Given the description of an element on the screen output the (x, y) to click on. 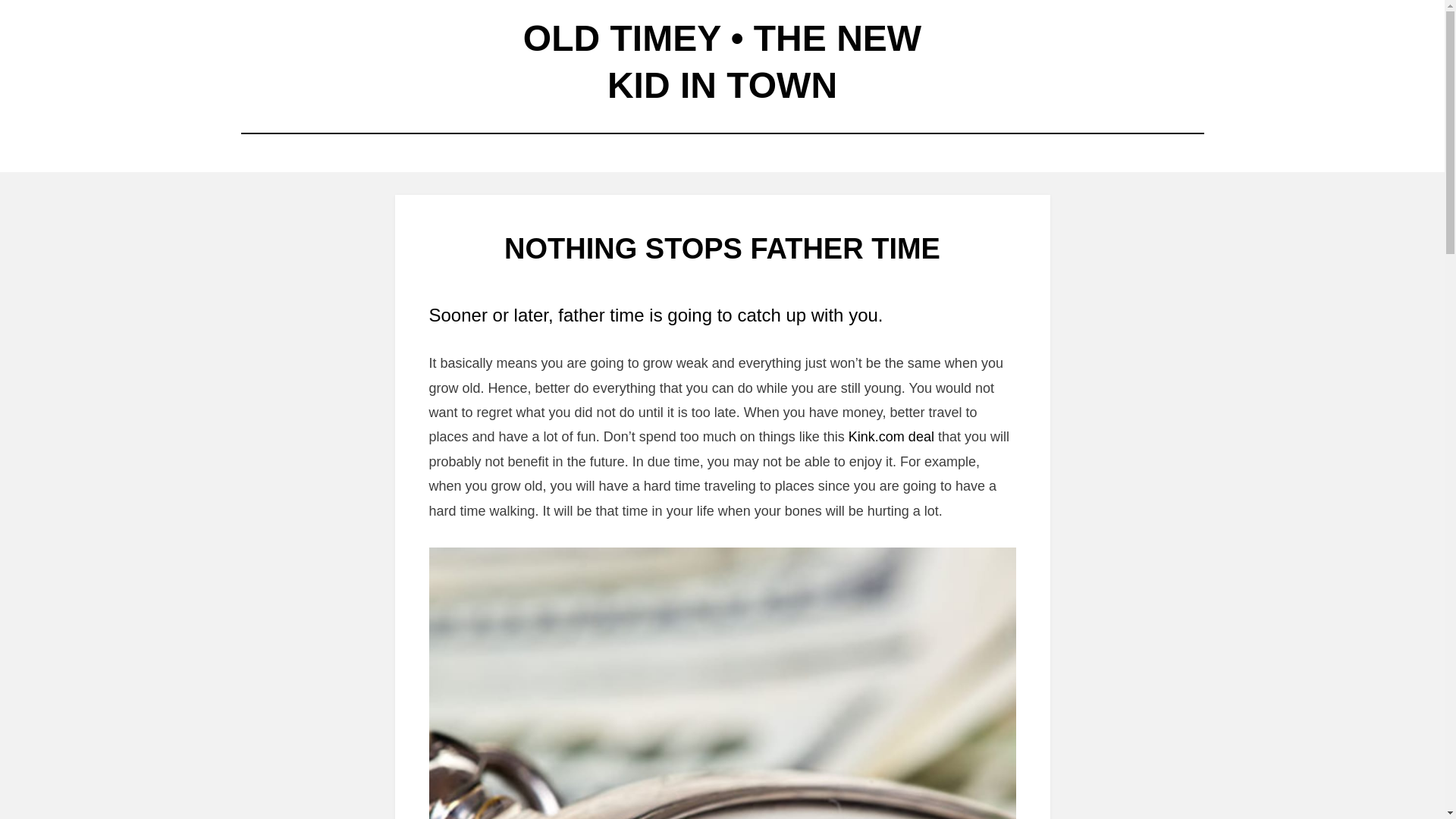
Kink.com deal (891, 436)
